Given the description of an element on the screen output the (x, y) to click on. 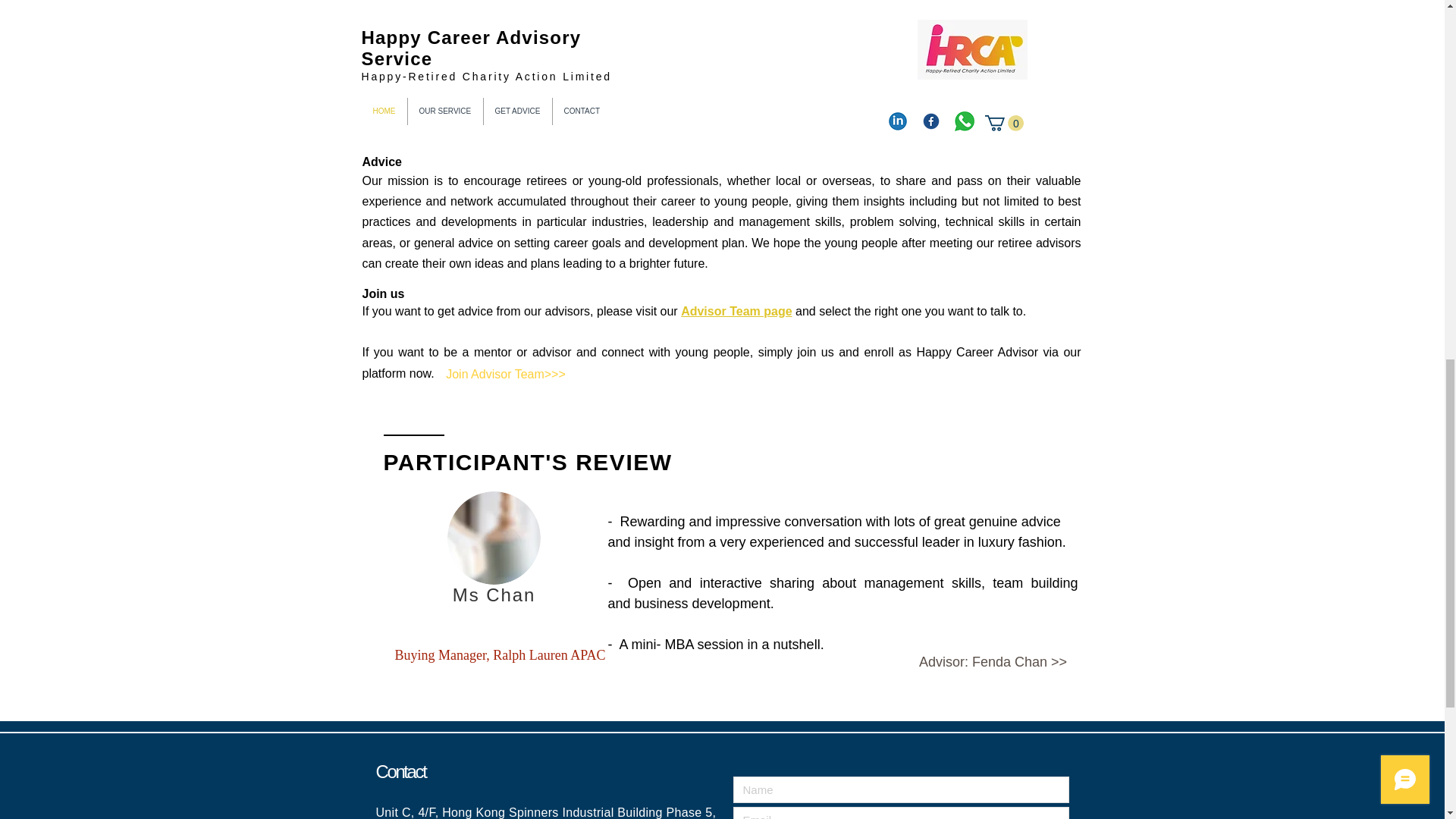
Advisor Team page (736, 310)
